Given the description of an element on the screen output the (x, y) to click on. 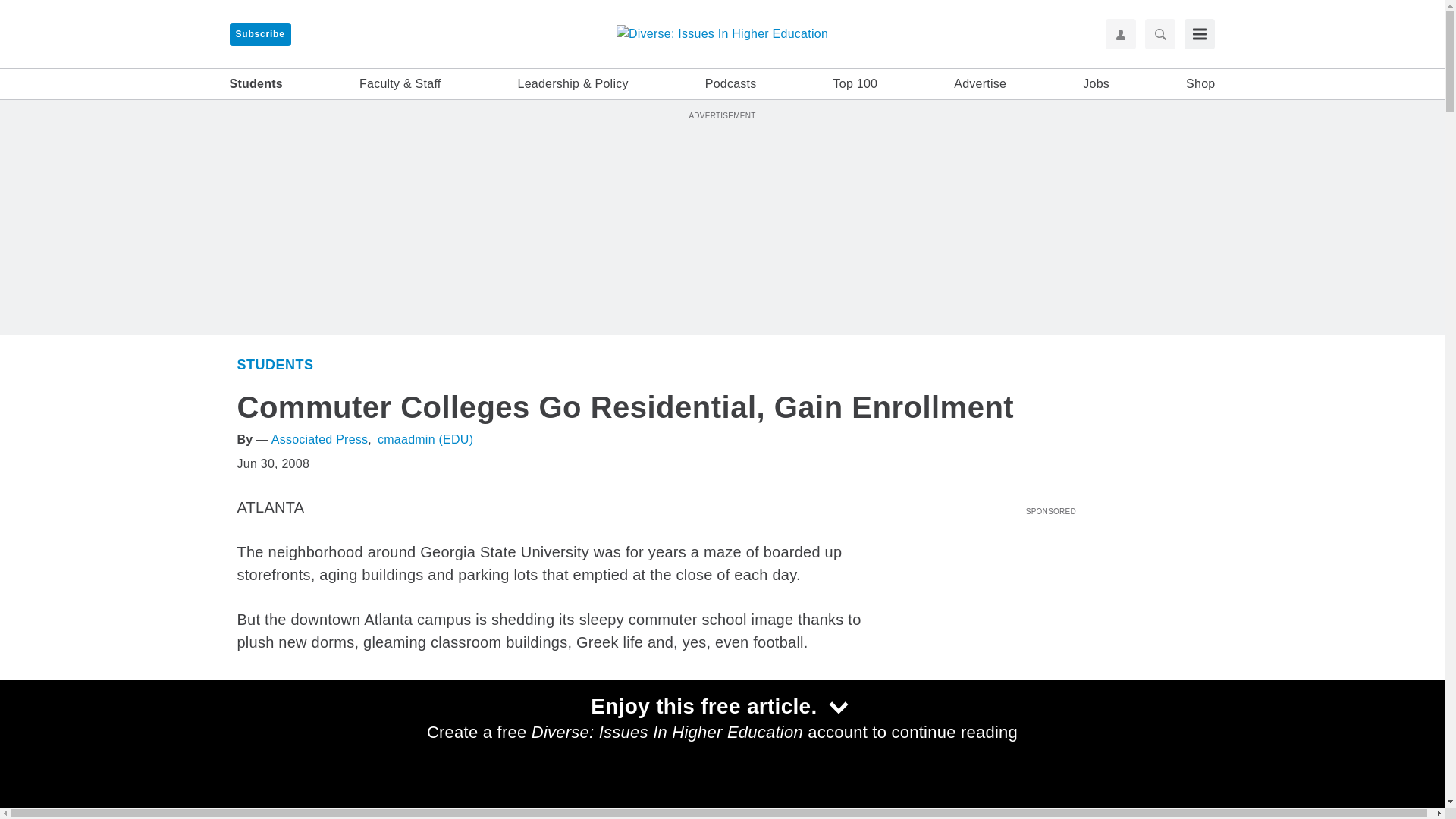
Podcasts (730, 84)
Advertise (979, 84)
Students (255, 84)
Students (923, 777)
Top 100 (854, 84)
Subscribe (258, 33)
Subscribe (258, 33)
Students (274, 364)
Shop (1200, 84)
Youtube Player (1050, 606)
